Given the description of an element on the screen output the (x, y) to click on. 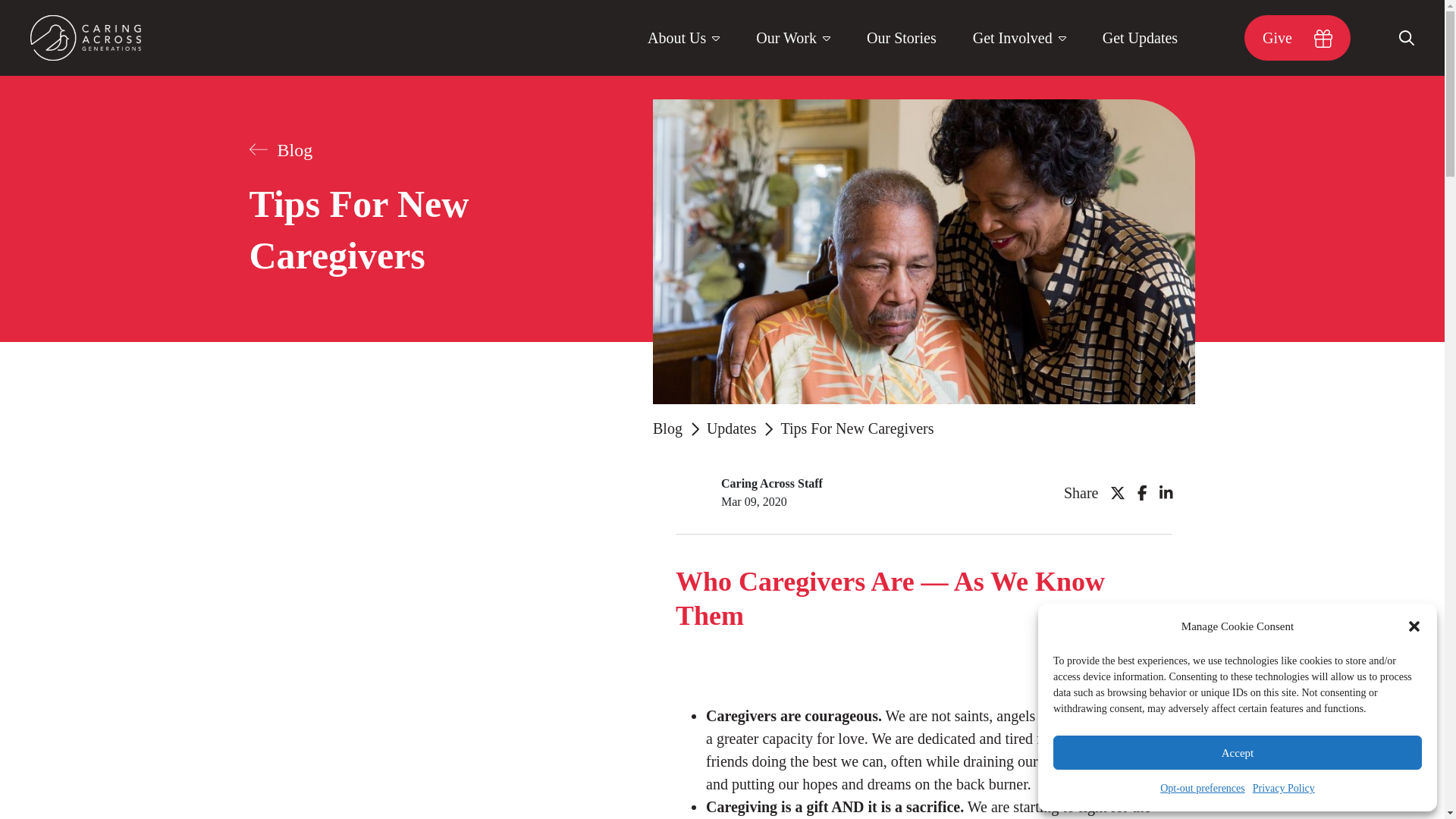
Privacy Policy (1283, 788)
About Us (683, 38)
Our Work (793, 38)
Get Involved (1019, 38)
Our Stories (901, 38)
Opt-out preferences (1202, 788)
Accept (1237, 752)
